Given the description of an element on the screen output the (x, y) to click on. 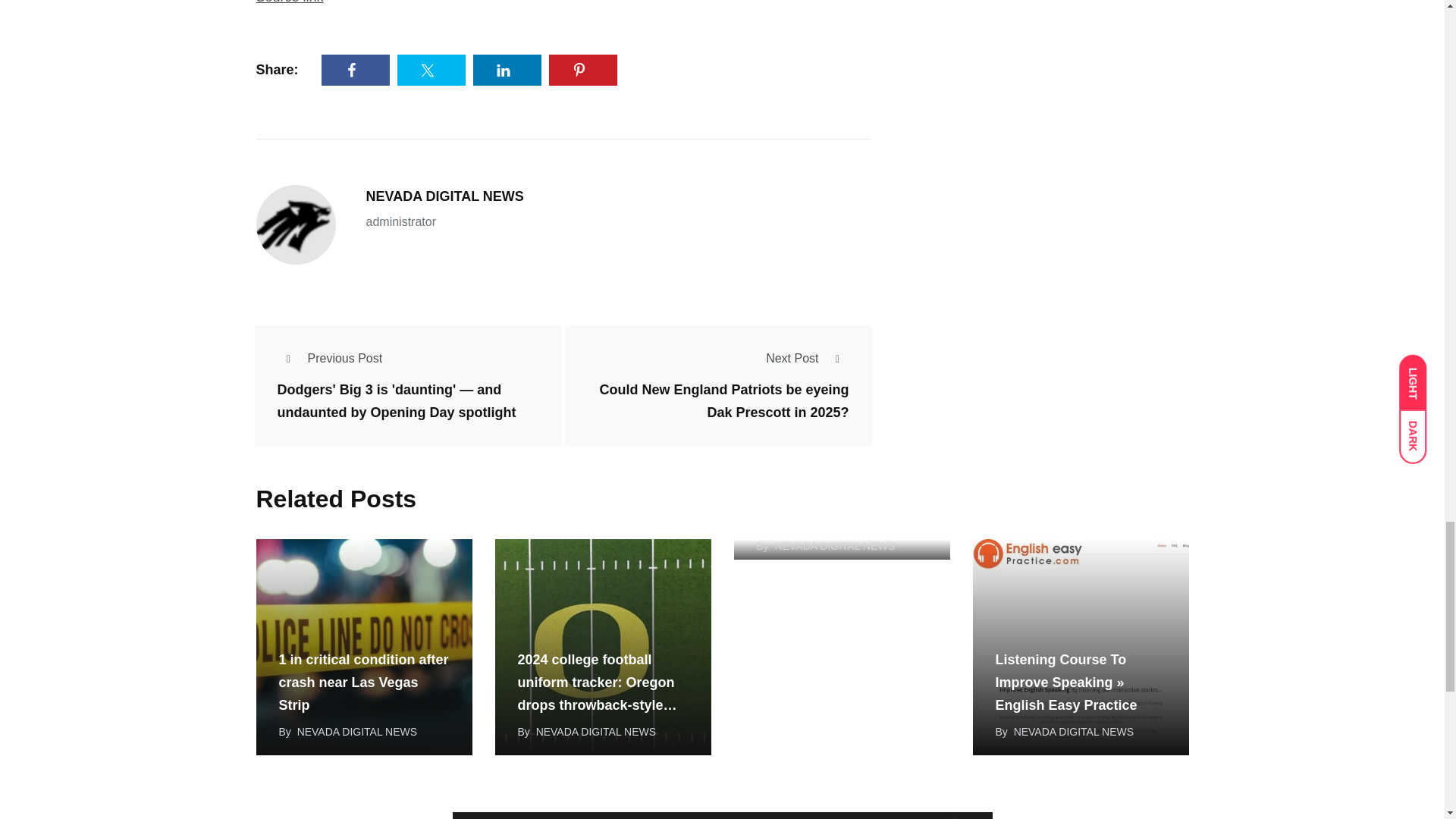
Share on Pinterest (582, 69)
1 in critical condition after crash near Las Vegas Strip (363, 646)
Share on Twitter (431, 69)
Share on LinkedIn (507, 69)
Share on Facebook (355, 69)
Posts by NEVADA DIGITAL NEWS (443, 196)
Posts by NEVADA DIGITAL NEWS (356, 731)
Posts by NEVADA DIGITAL NEWS (595, 731)
